Given the description of an element on the screen output the (x, y) to click on. 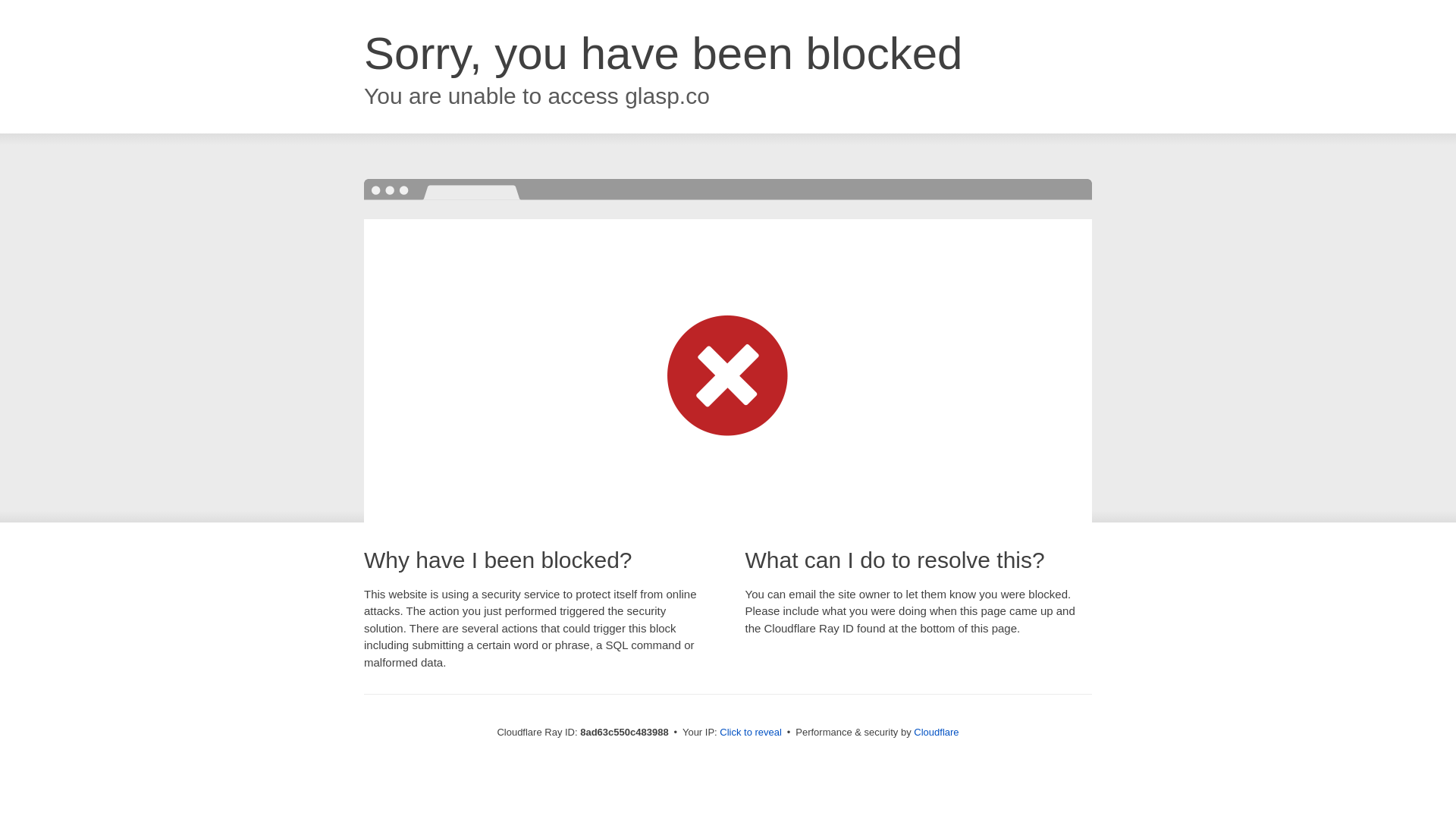
Click to reveal (750, 732)
Cloudflare (936, 731)
